Given the description of an element on the screen output the (x, y) to click on. 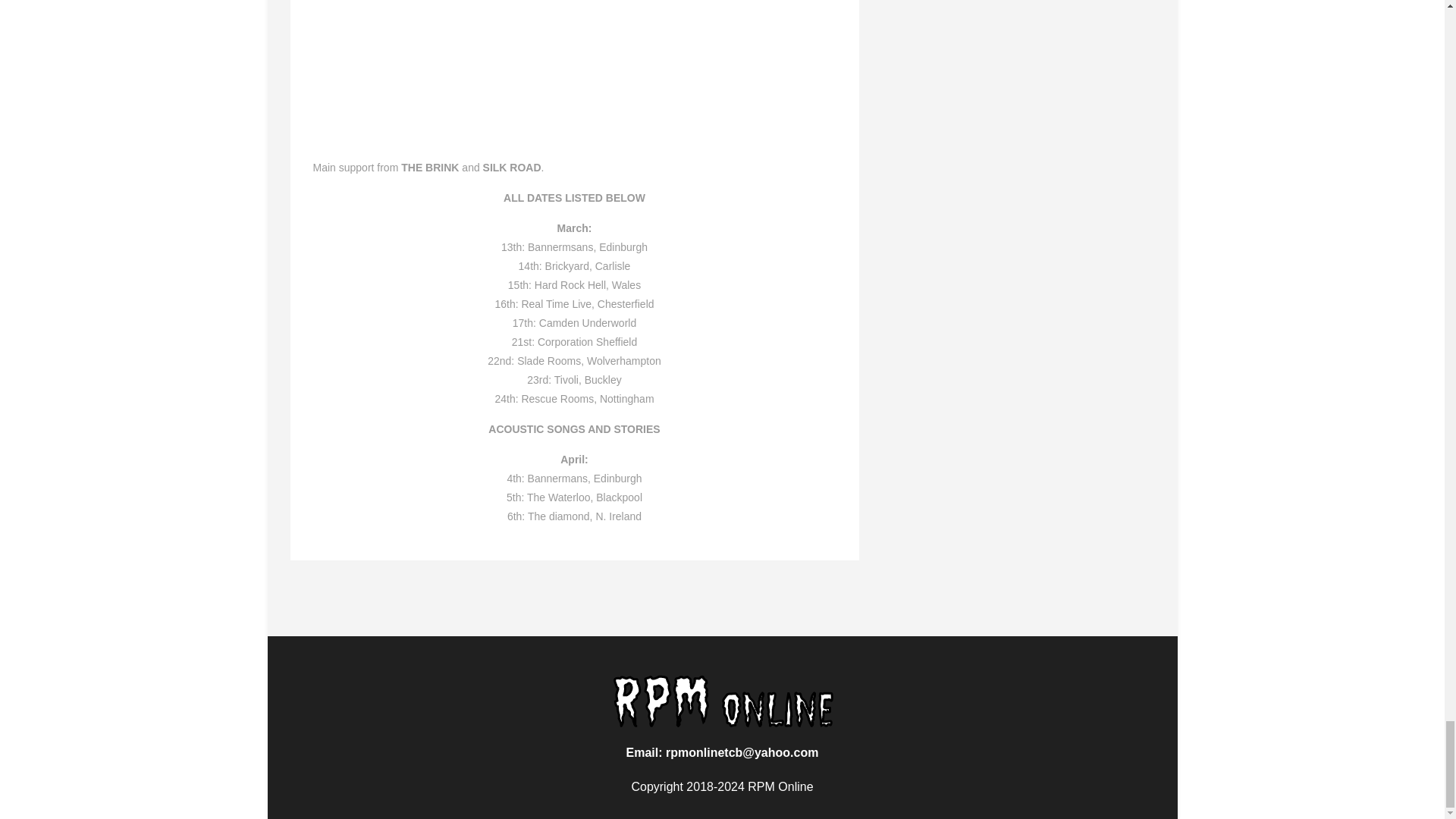
RPM Online (722, 700)
